Given the description of an element on the screen output the (x, y) to click on. 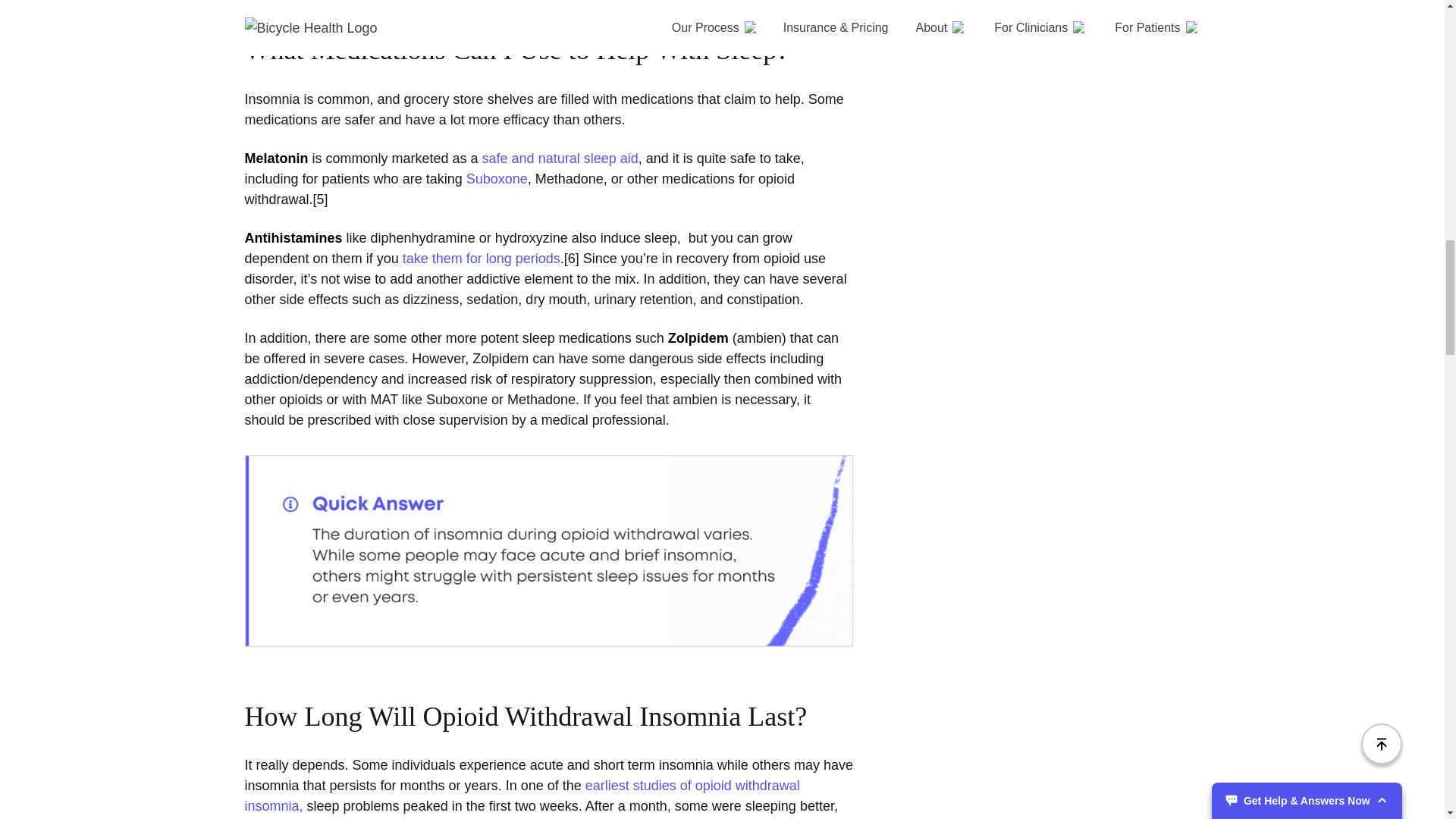
take them for long periods (481, 258)
safe and natural sleep aid (560, 158)
earliest studies of opioid withdrawal insomnia, (521, 796)
Suboxone (496, 178)
